Given the description of an element on the screen output the (x, y) to click on. 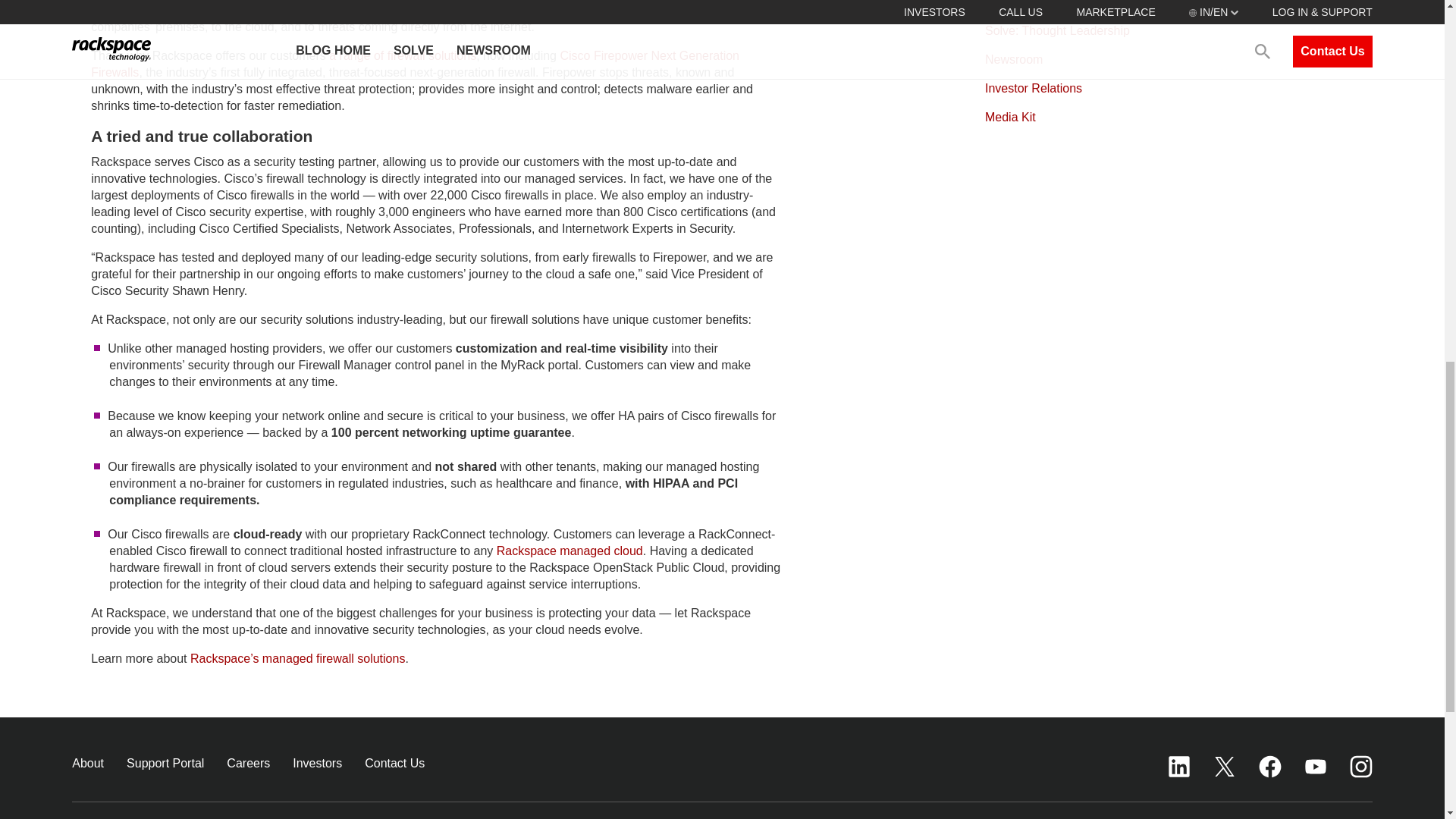
a range of firewall solutions (402, 55)
Cisco Firepower Next Generation Firewalls (414, 63)
Solve: Thought Leadership (1057, 30)
Rackspace managed  (555, 550)
cloud (628, 550)
Blog Home (1015, 4)
Investor Relations (1033, 88)
Newsroom (1013, 59)
